Given the description of an element on the screen output the (x, y) to click on. 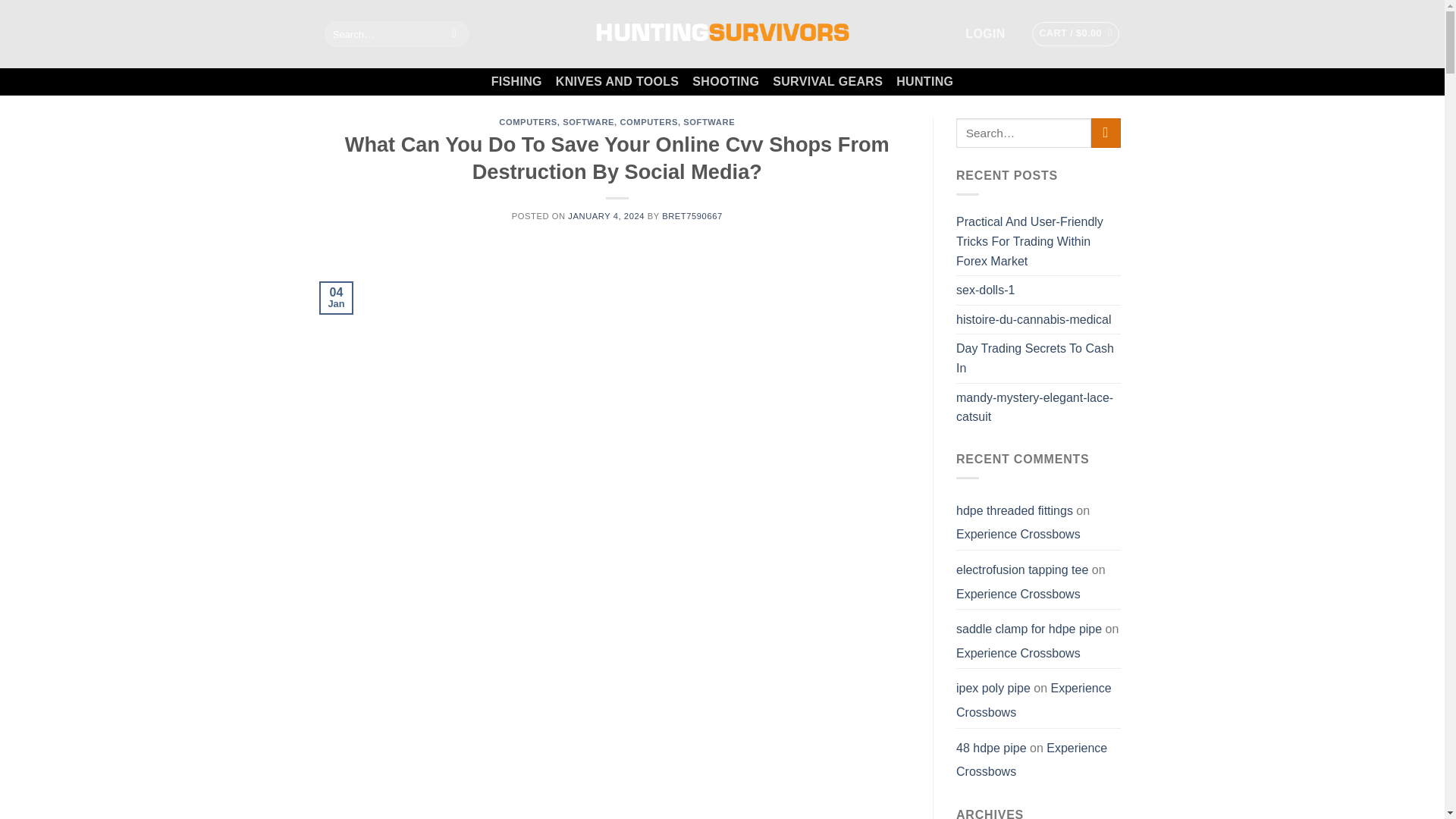
COMPUTERS, SOFTWARE (677, 121)
Experience Crossbows (1018, 534)
KNIVES AND TOOLS (617, 81)
hdpe threaded fittings (1014, 510)
COMPUTERS, SOFTWARE (556, 121)
Cart (1075, 33)
FISHING (516, 81)
SURVIVAL GEARS (827, 81)
SHOOTING (725, 81)
LOGIN (984, 33)
JANUARY 4, 2024 (606, 215)
Hunting Survivors - Gear Up for New Adventure! (721, 33)
HUNTING (924, 81)
Day Trading Secrets To Cash In (1038, 358)
